Given the description of an element on the screen output the (x, y) to click on. 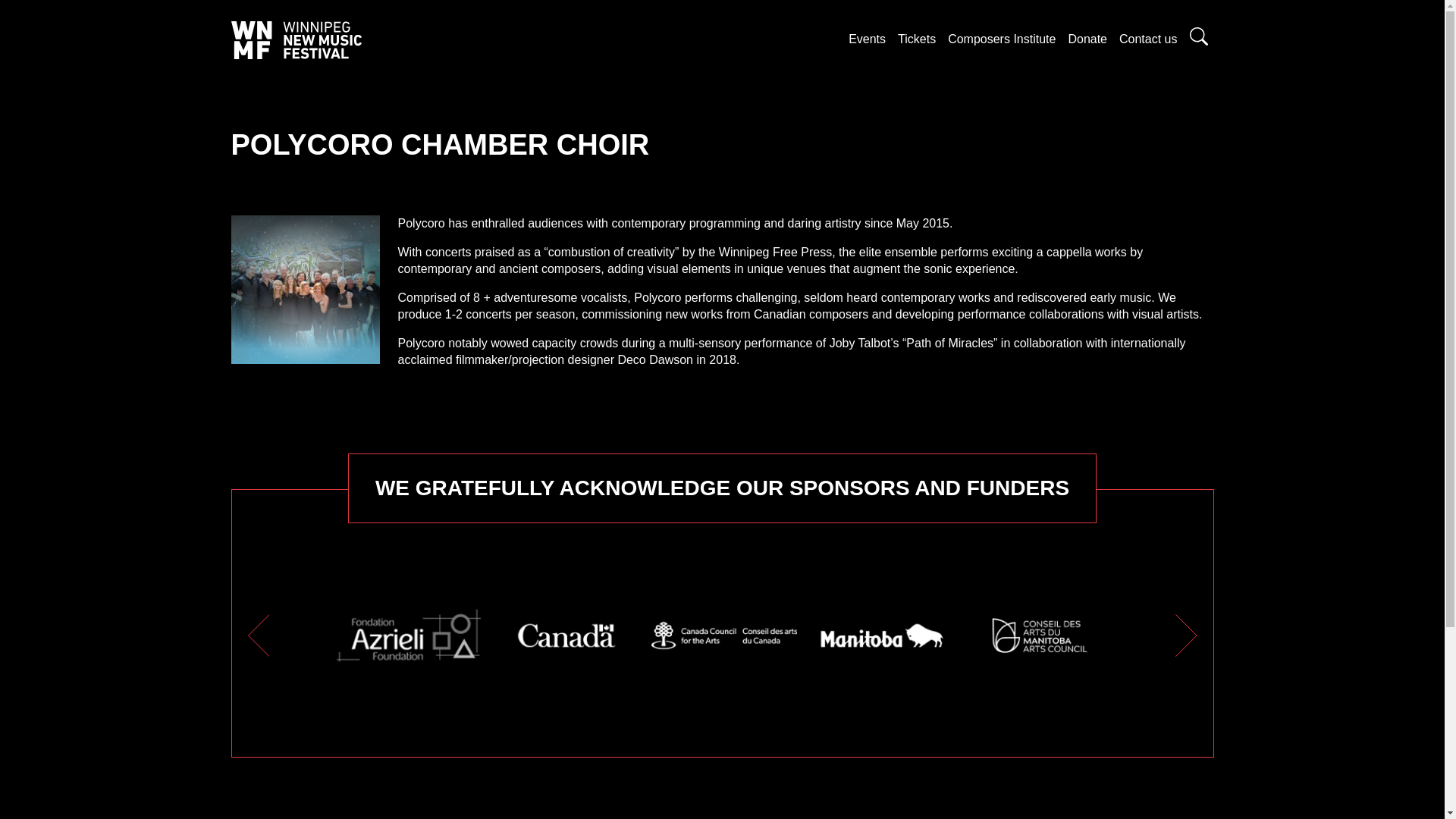
Donate (1087, 39)
Events (867, 39)
Polycoro Chamber Choir - Winnipeg New Music Festival (304, 289)
Contact us (1147, 39)
Tickets (916, 39)
Composers Institute (1001, 39)
